Given the description of an element on the screen output the (x, y) to click on. 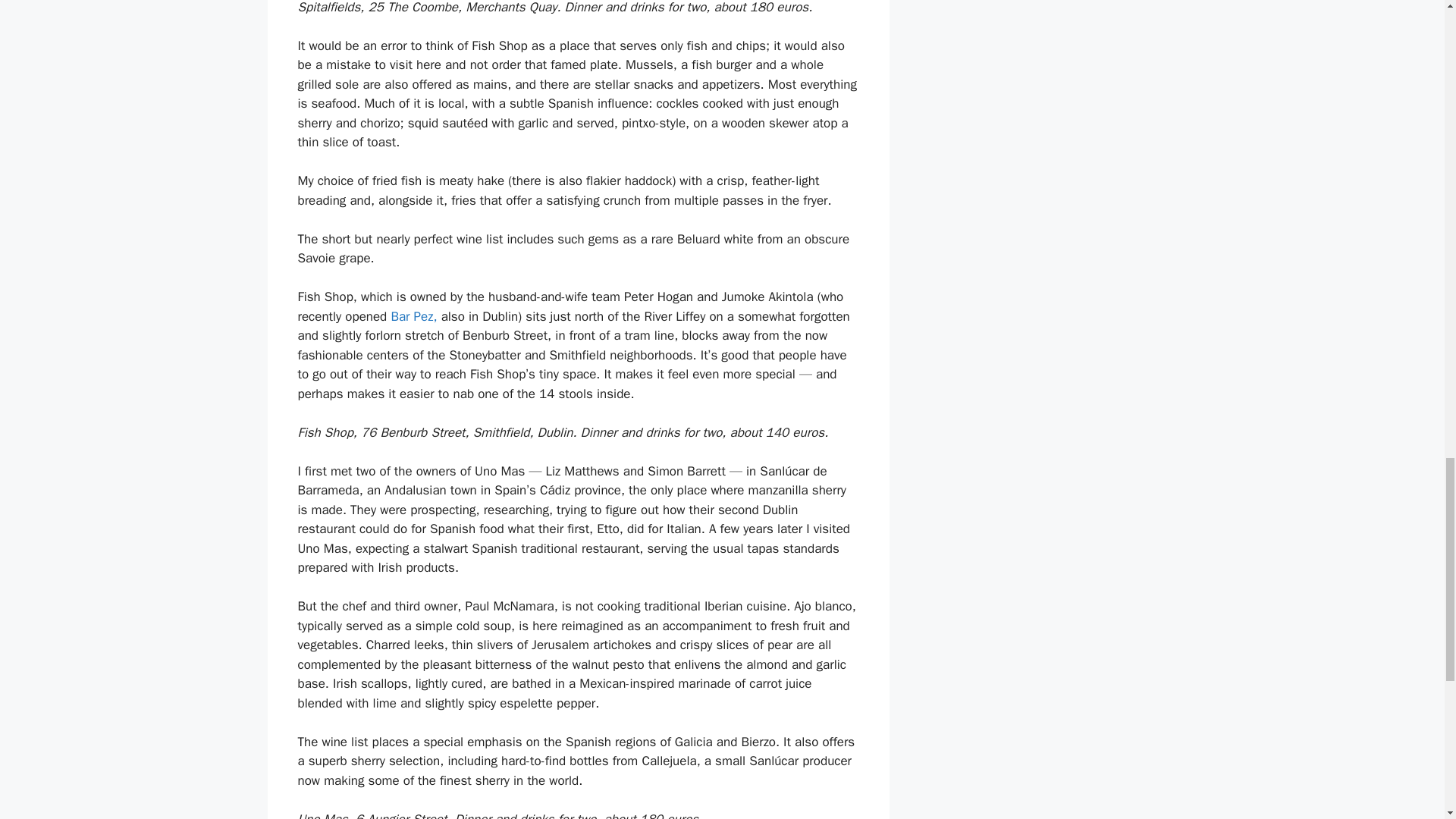
Bar Pez, (413, 316)
